Given the description of an element on the screen output the (x, y) to click on. 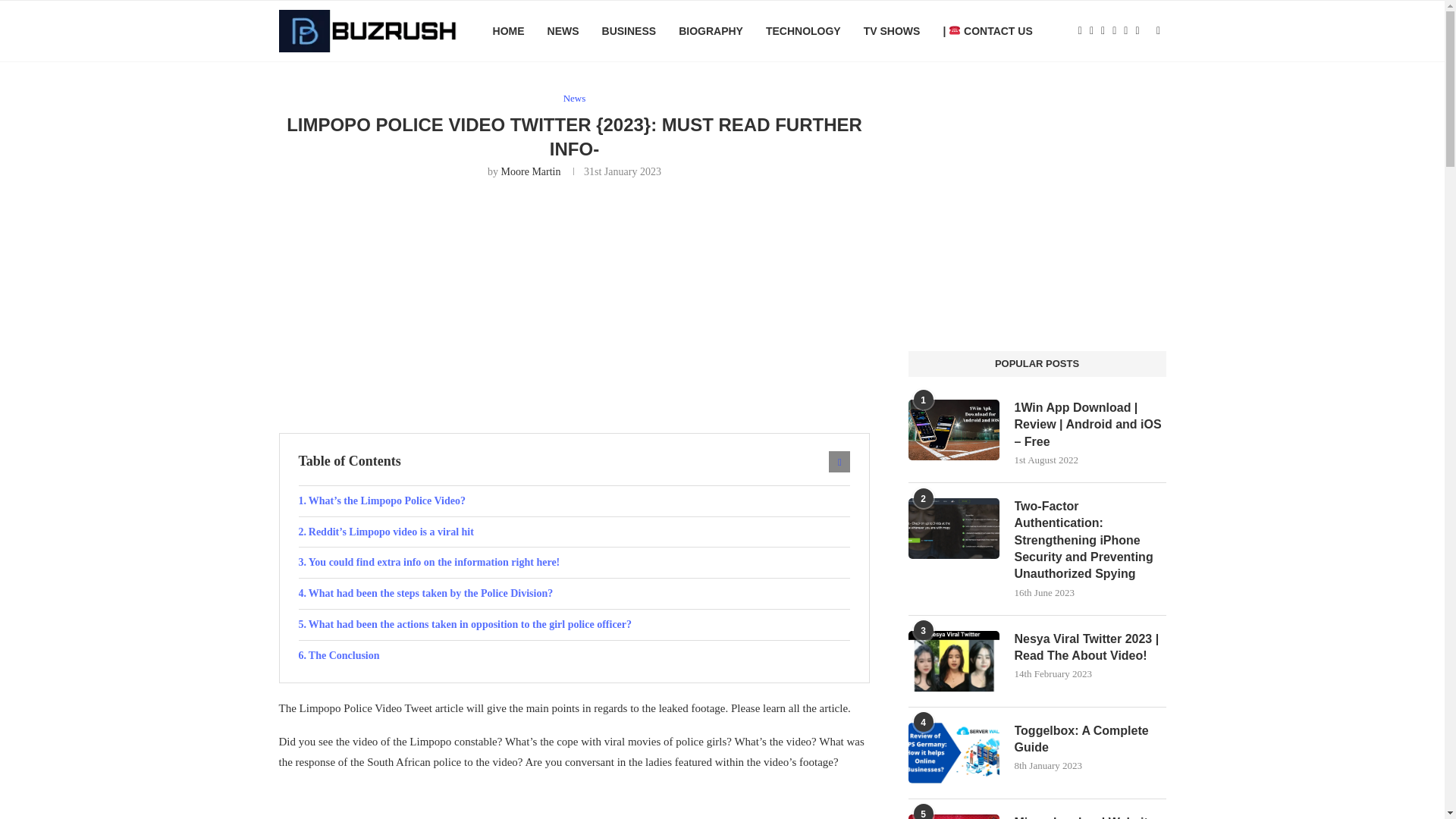
BIOGRAPHY (710, 30)
What had been the steps taken by the Police Division? (574, 593)
The Conclusion (574, 655)
News (574, 98)
BUSINESS (629, 30)
The Conclusion (574, 655)
TV SHOWS (891, 30)
You could find extra info on the information right here! (574, 562)
What had been the steps taken by the Police Division? (574, 593)
